Given the description of an element on the screen output the (x, y) to click on. 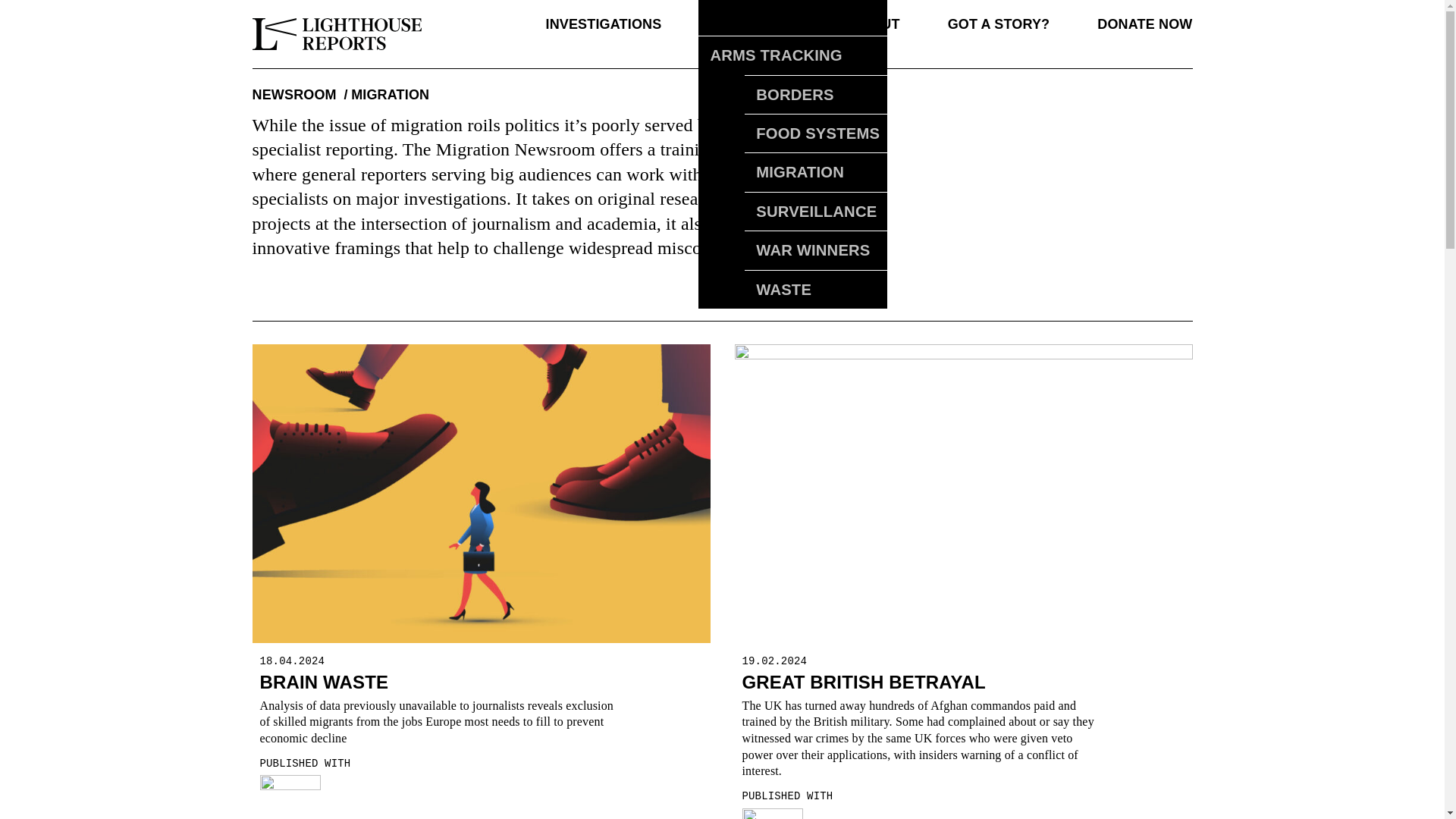
ARMS TRACKING (793, 55)
BORDERS (817, 94)
NEWSROOMS (755, 23)
MIGRATION (817, 171)
BBC Panorama (771, 813)
home (338, 33)
WASTE (817, 288)
ABOUT (875, 23)
FOOD SYSTEMS (817, 133)
BRAIN WASTE (323, 681)
